Given the description of an element on the screen output the (x, y) to click on. 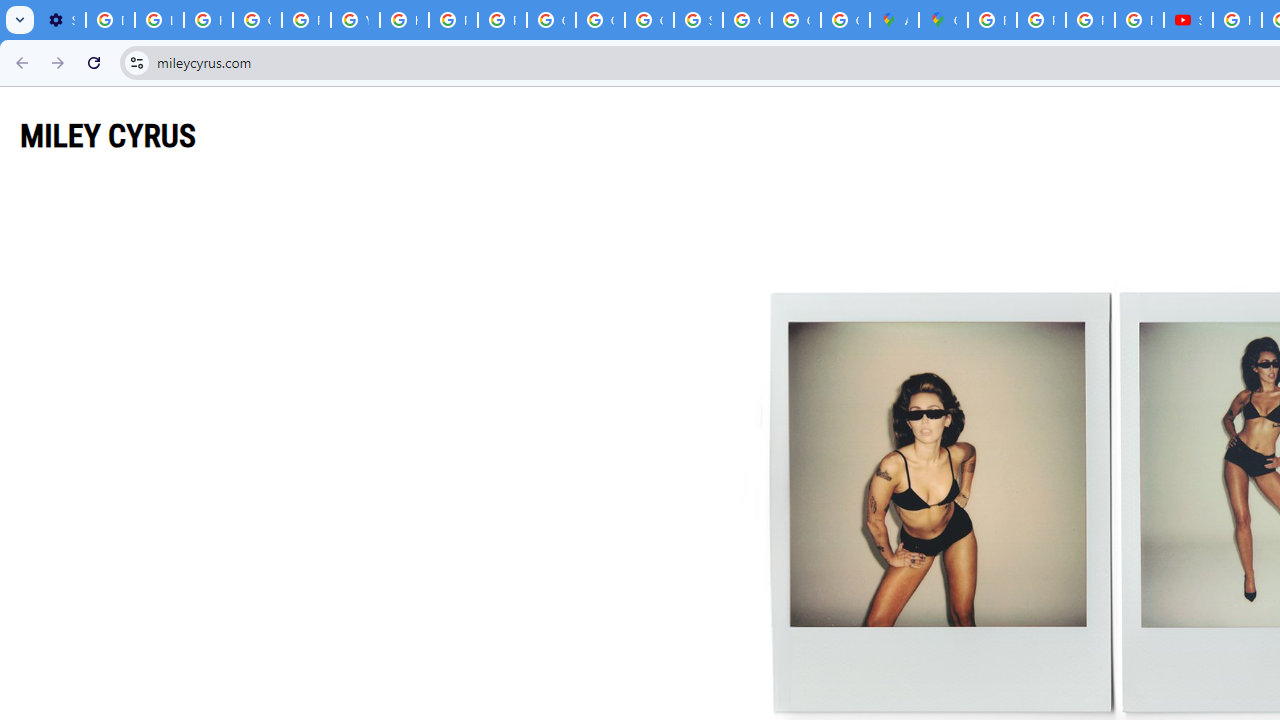
Sign in - Google Accounts (698, 20)
